Given the description of an element on the screen output the (x, y) to click on. 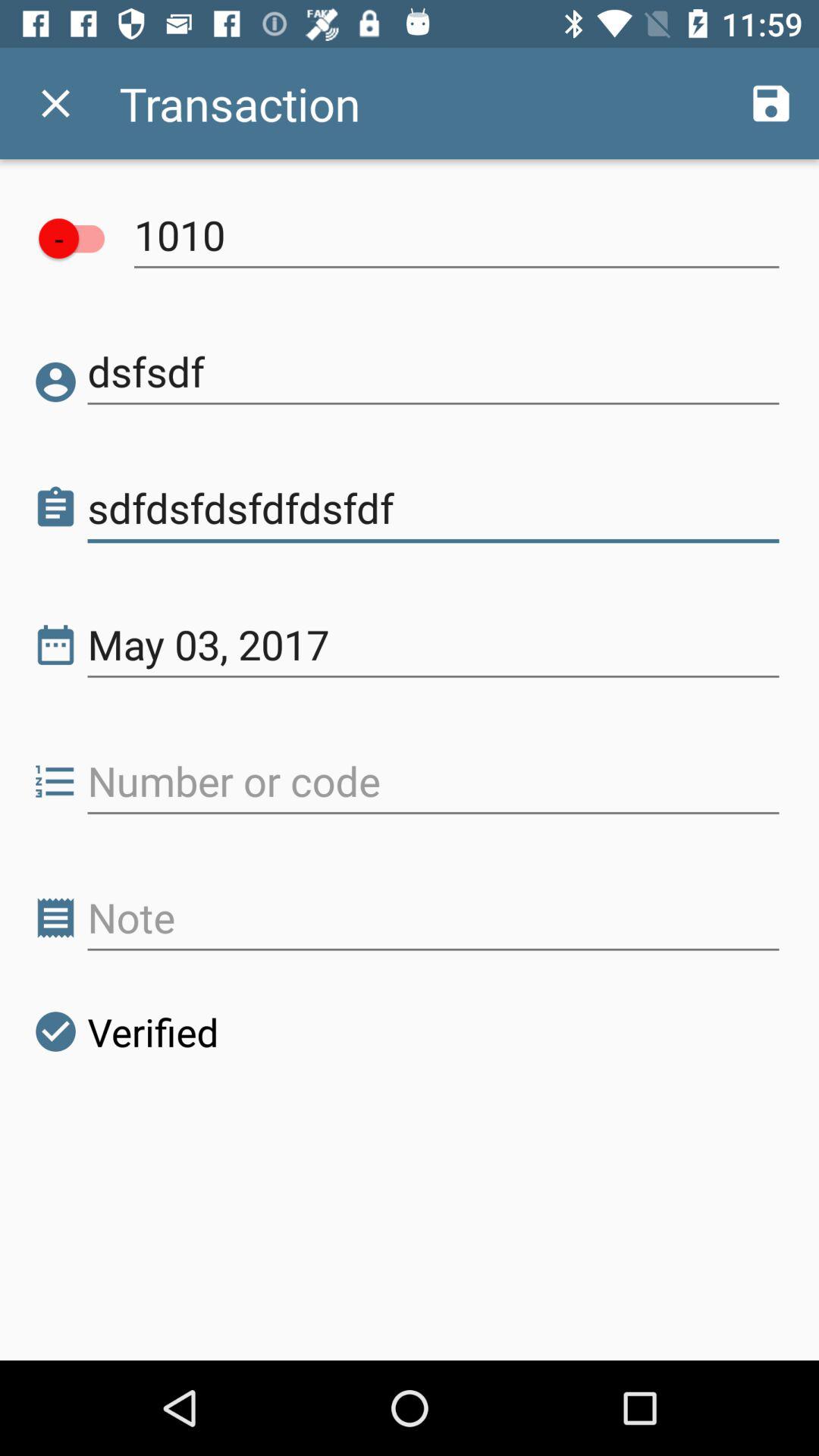
press the icon above the verified item (433, 917)
